Given the description of an element on the screen output the (x, y) to click on. 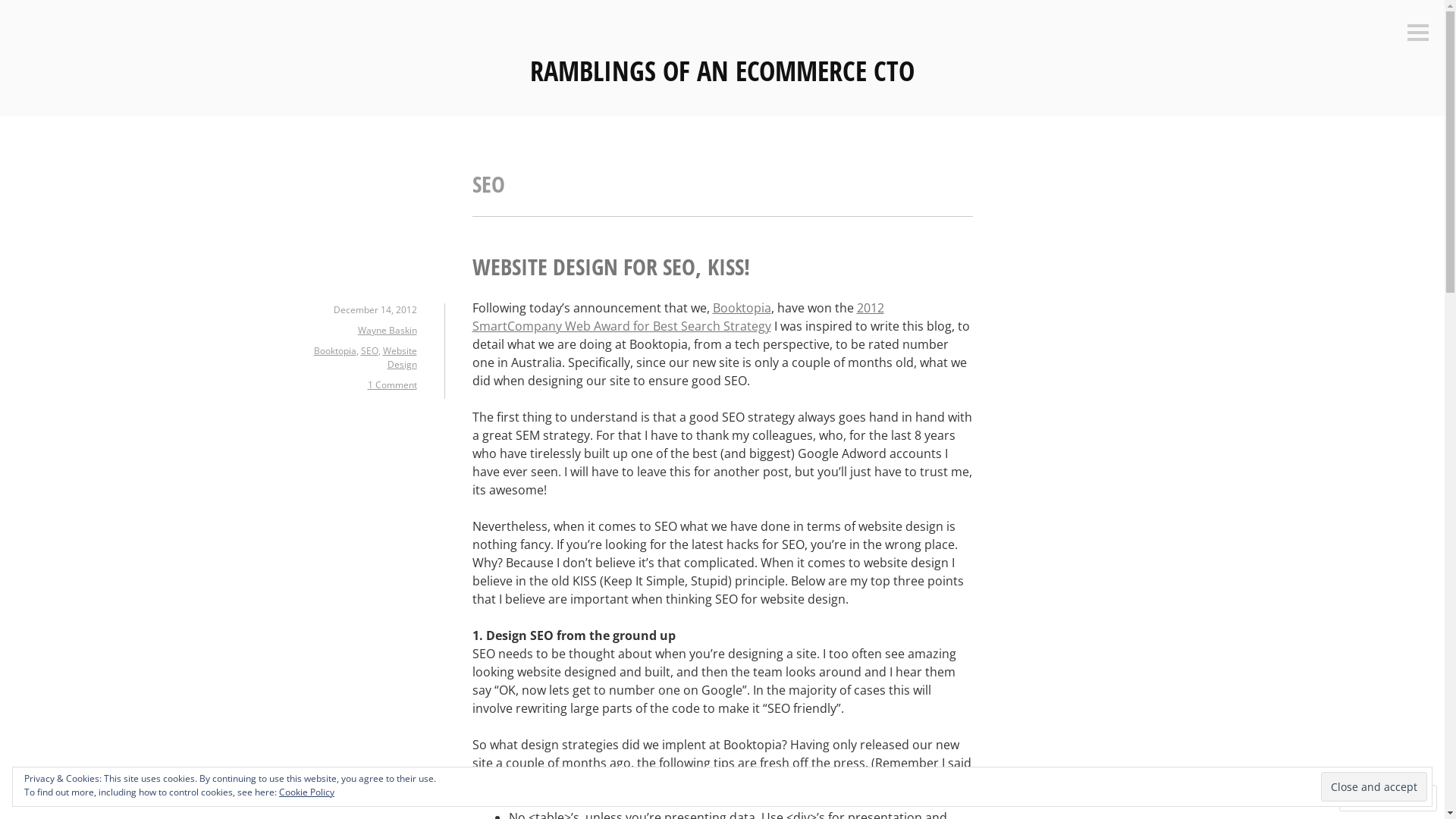
WEBSITE DESIGN FOR SEO, KISS! Element type: text (610, 266)
Follow Element type: text (1373, 797)
Sidebar Element type: hover (1417, 33)
2012 SmartCompany Web Award for Best Search Strategy Element type: text (677, 316)
SEO Element type: text (369, 350)
RAMBLINGS OF AN ECOMMERCE CTO Element type: text (722, 70)
Wayne Baskin Element type: text (387, 329)
Booktopia Element type: text (741, 307)
Booktopia Element type: text (334, 350)
Close and accept Element type: text (1374, 786)
Cookie Policy Element type: text (306, 791)
1 Comment Element type: text (391, 384)
Website Design Element type: text (399, 357)
December 14, 2012 Element type: text (375, 309)
